Given the description of an element on the screen output the (x, y) to click on. 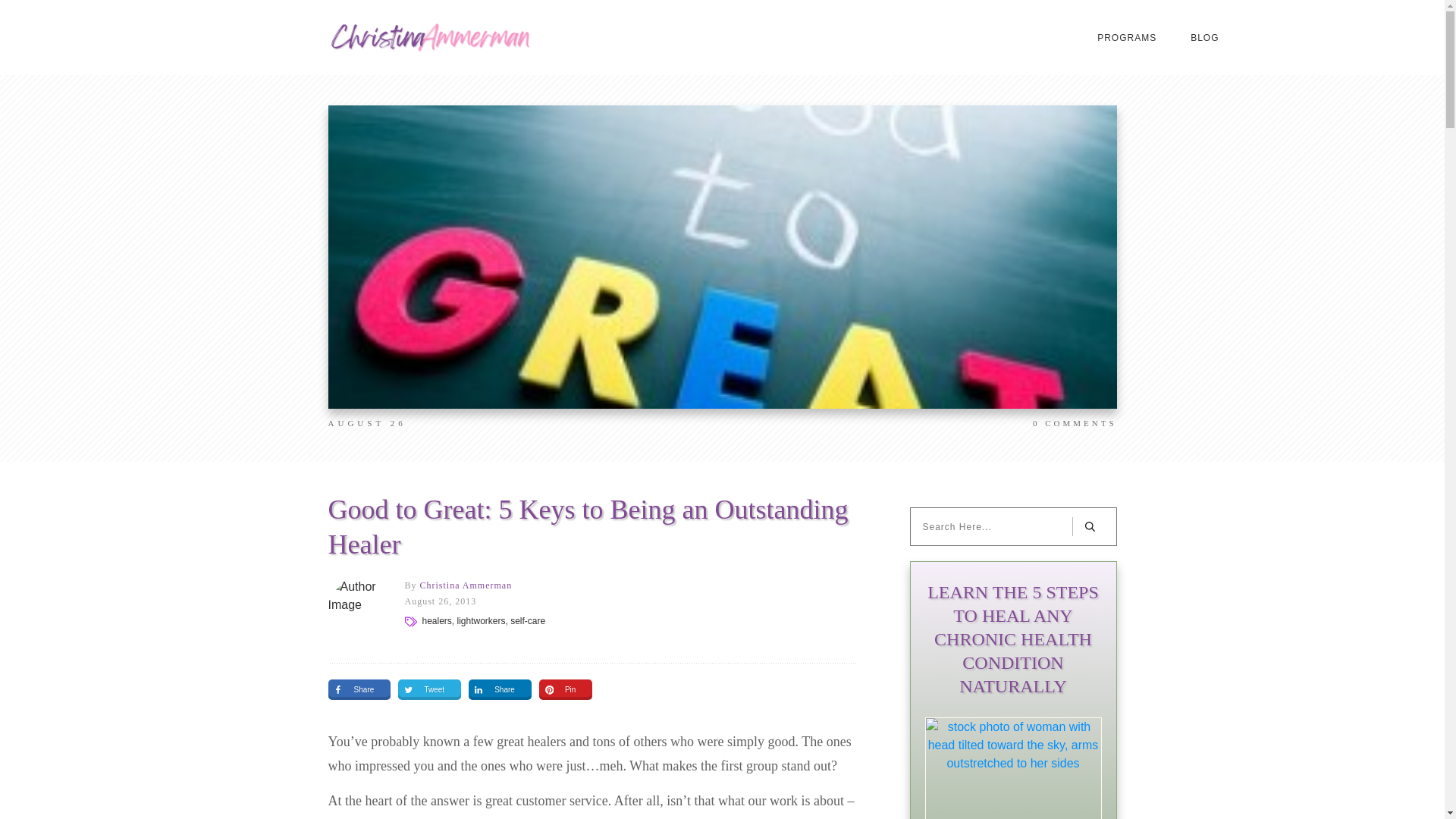
Share (492, 689)
undefined (357, 608)
Pin (559, 689)
Good to Great: 5 Keys to Being an Outstanding Healer (587, 527)
Tweet (421, 689)
BLOG (1204, 37)
PROGRAMS (1126, 37)
Good to Great: 5 Keys to Being an Outstanding Healer (587, 527)
Share (352, 689)
